Given the description of an element on the screen output the (x, y) to click on. 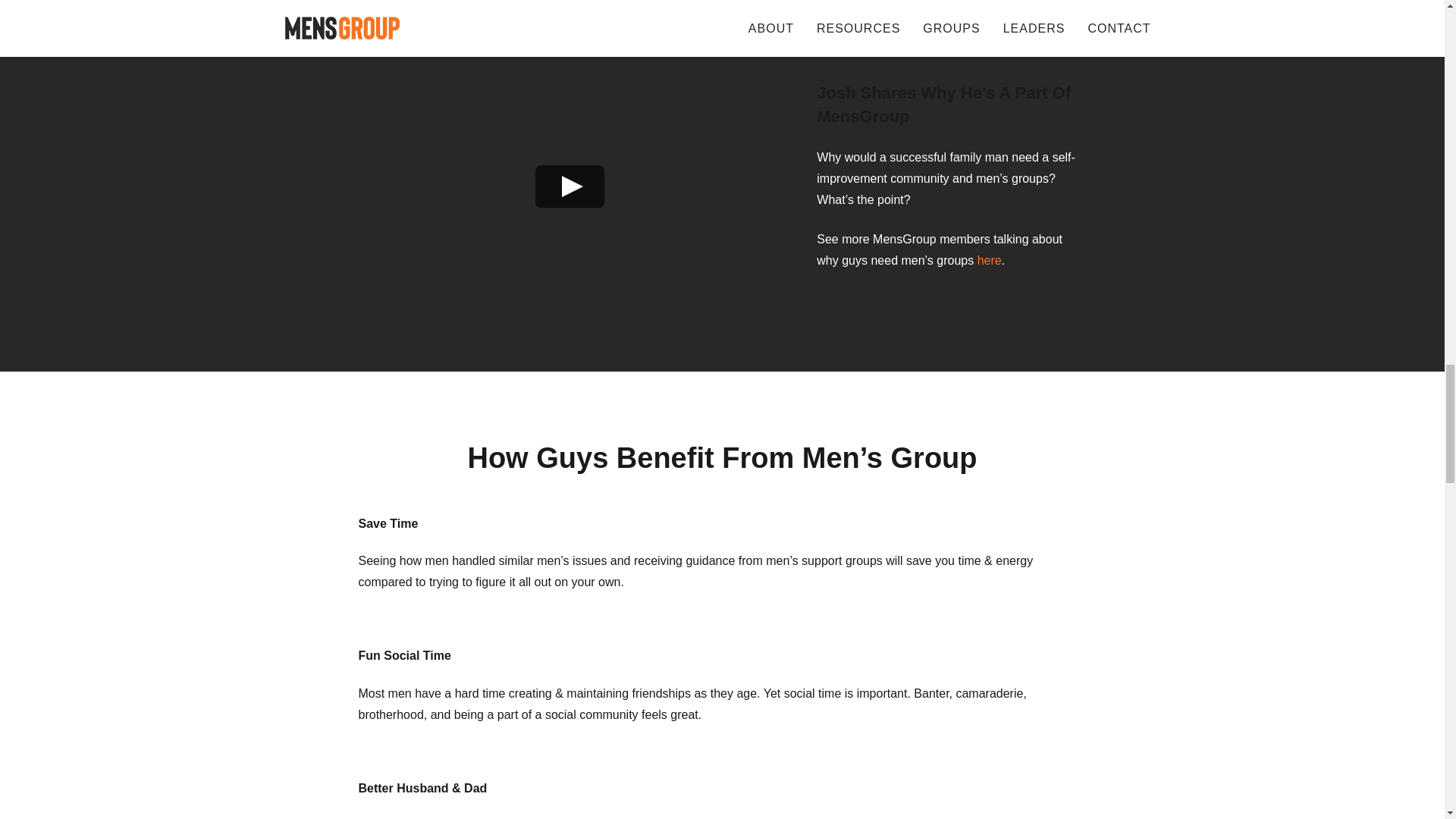
here (988, 259)
